Given the description of an element on the screen output the (x, y) to click on. 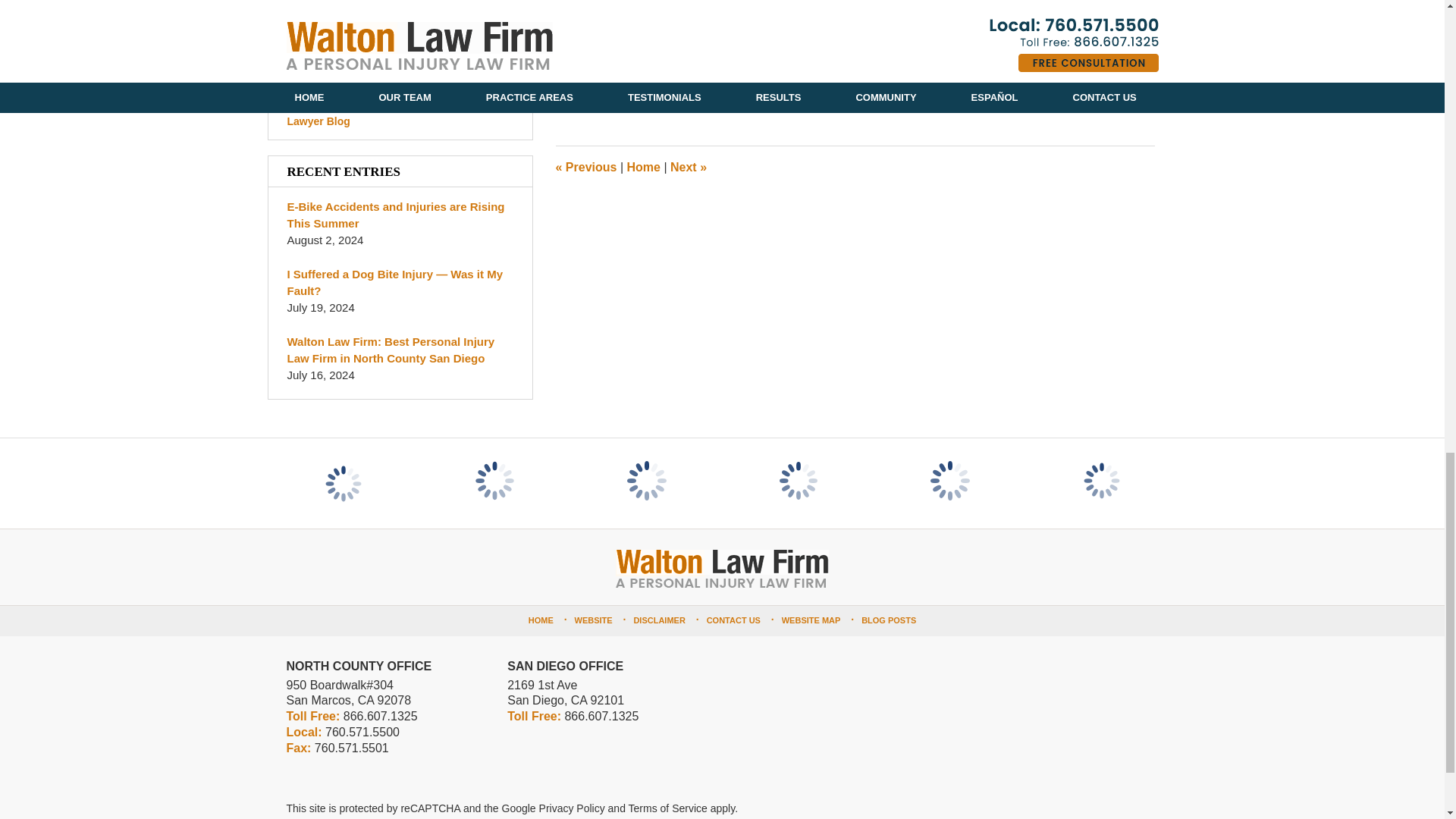
View all posts in Brain Injury (627, 69)
Brain Injury (627, 69)
TBI (690, 84)
Hearing Loss May Increase Your Injury Risk in Escondido (687, 166)
Personal Injury (706, 69)
View all posts in Personal Injury (706, 69)
View all posts tagged with TBI (690, 84)
parkinsons disease (634, 84)
View all posts tagged with traumatic brain injury (766, 84)
